Given the description of an element on the screen output the (x, y) to click on. 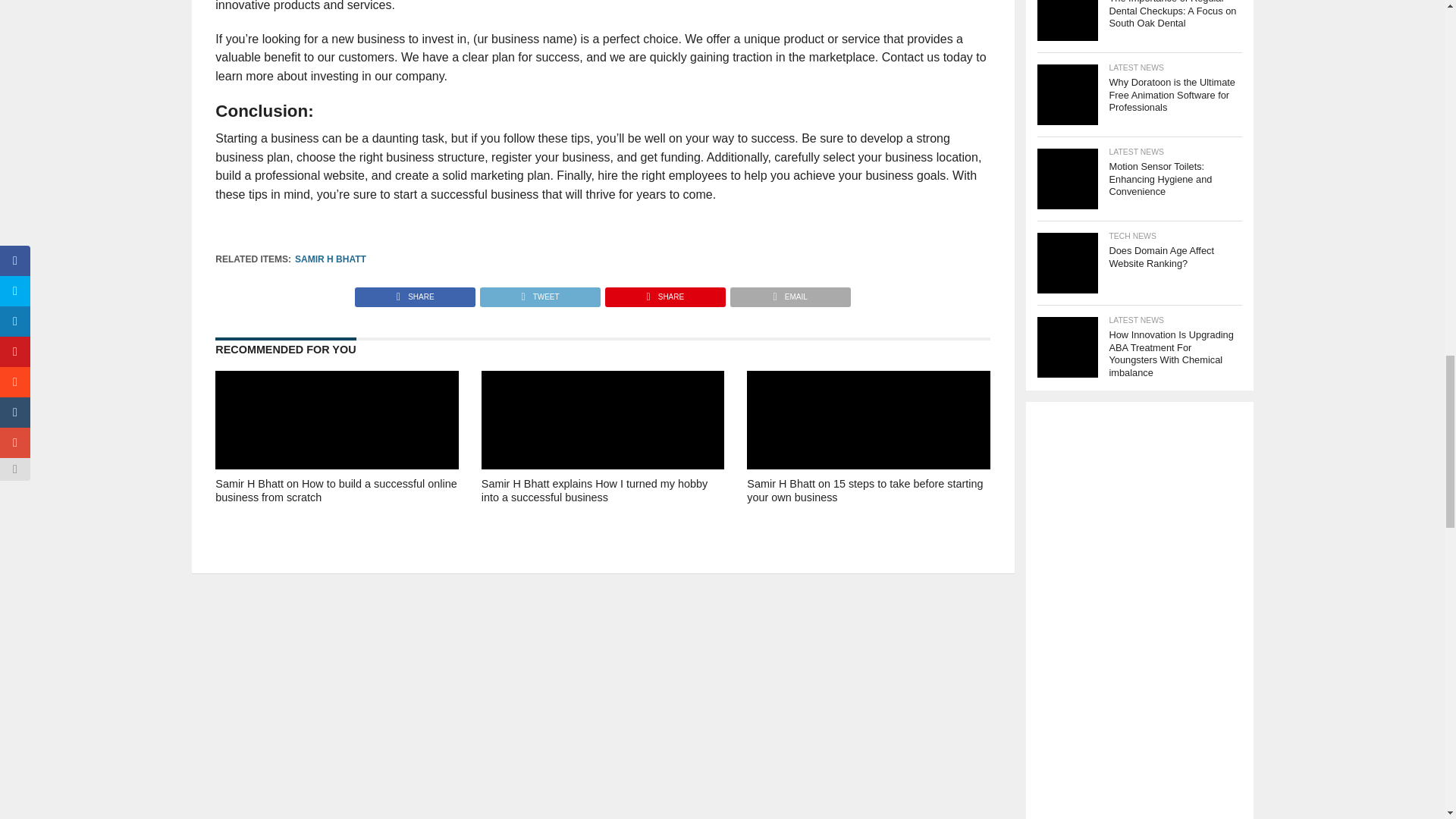
Tweet This Post (539, 292)
Pin This Post (664, 292)
Share on Facebook (415, 292)
